Given the description of an element on the screen output the (x, y) to click on. 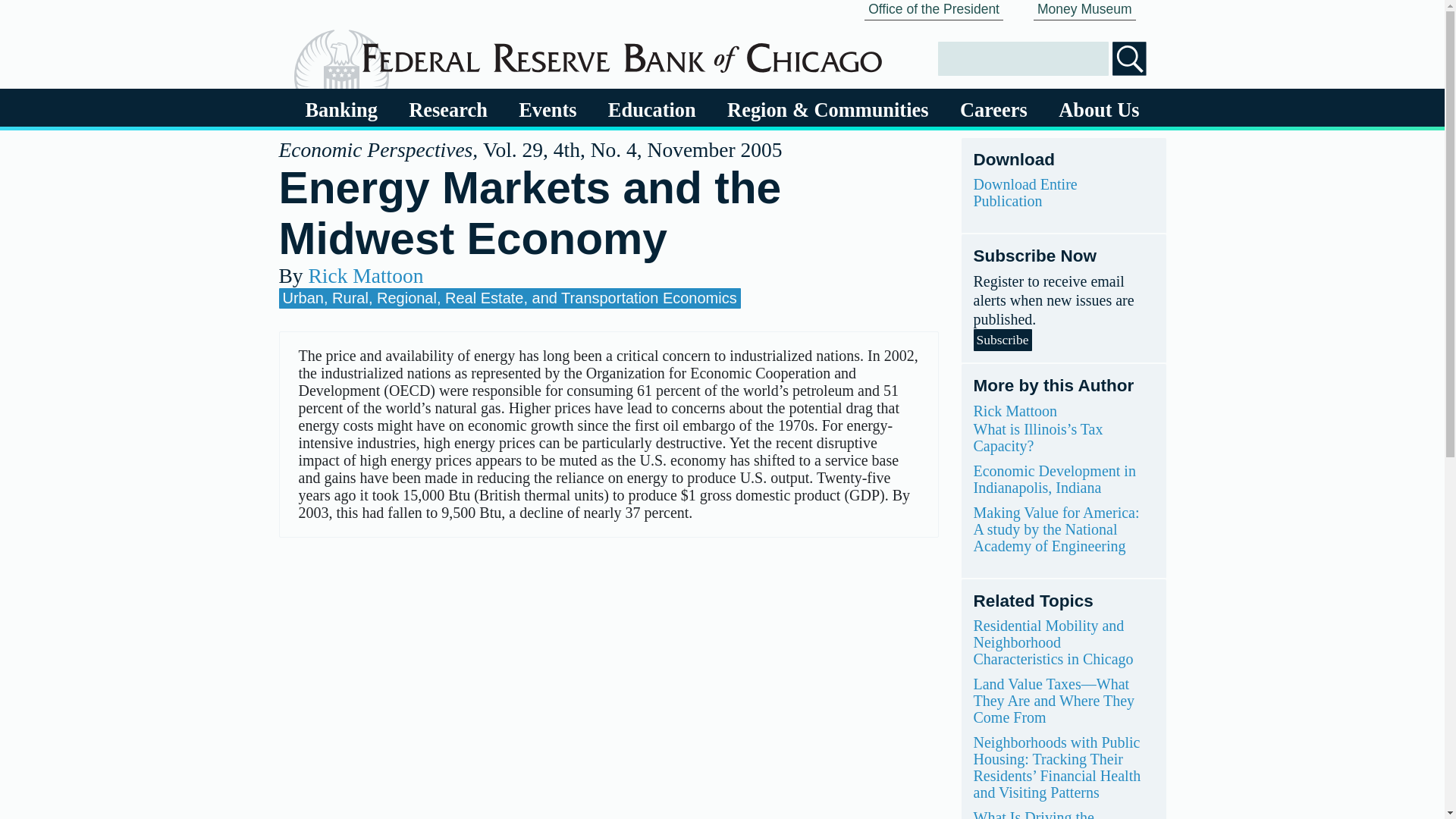
Home (622, 52)
Office of the President (933, 10)
Money Museum (1084, 10)
